Given the description of an element on the screen output the (x, y) to click on. 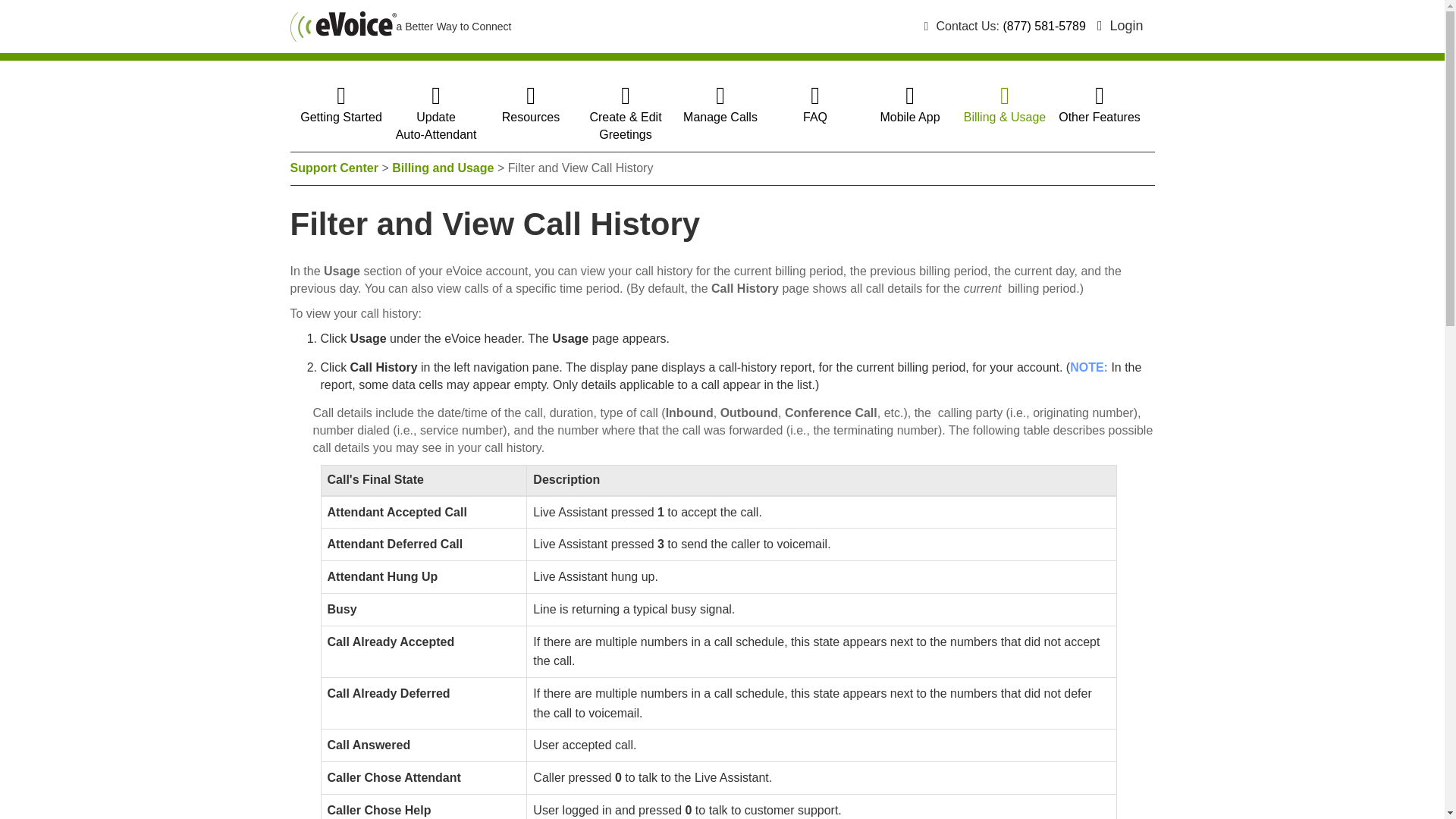
a Better Way to Connect (400, 26)
Other Features (1099, 108)
eVoice (342, 26)
Support Center (333, 167)
Mobile App (909, 108)
Login (1119, 25)
Getting Started (340, 108)
Billing and Usage (442, 167)
Manage Calls (436, 116)
Resources (719, 108)
